Given the description of an element on the screen output the (x, y) to click on. 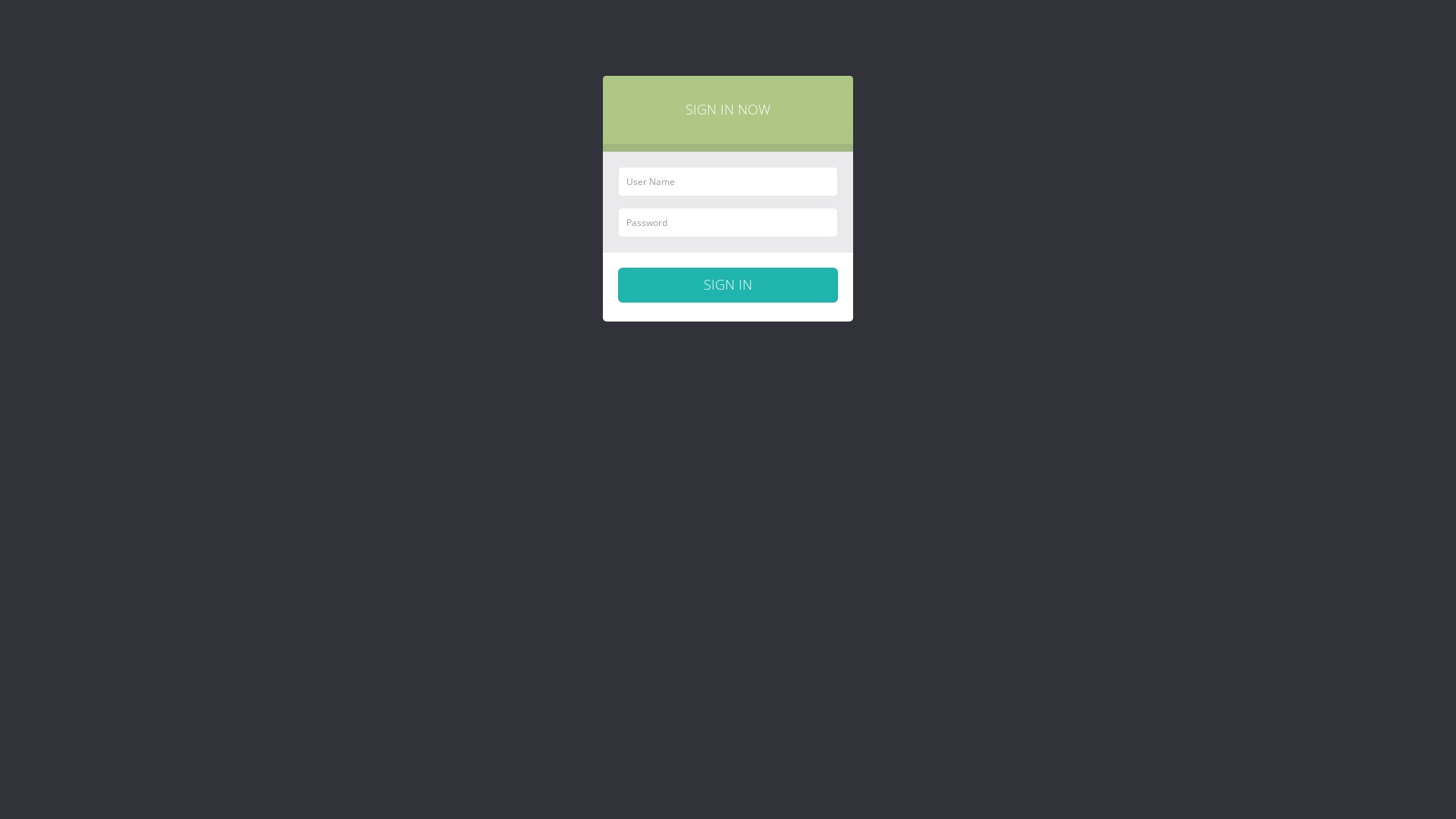
Sign in Element type: text (727, 284)
